Given the description of an element on the screen output the (x, y) to click on. 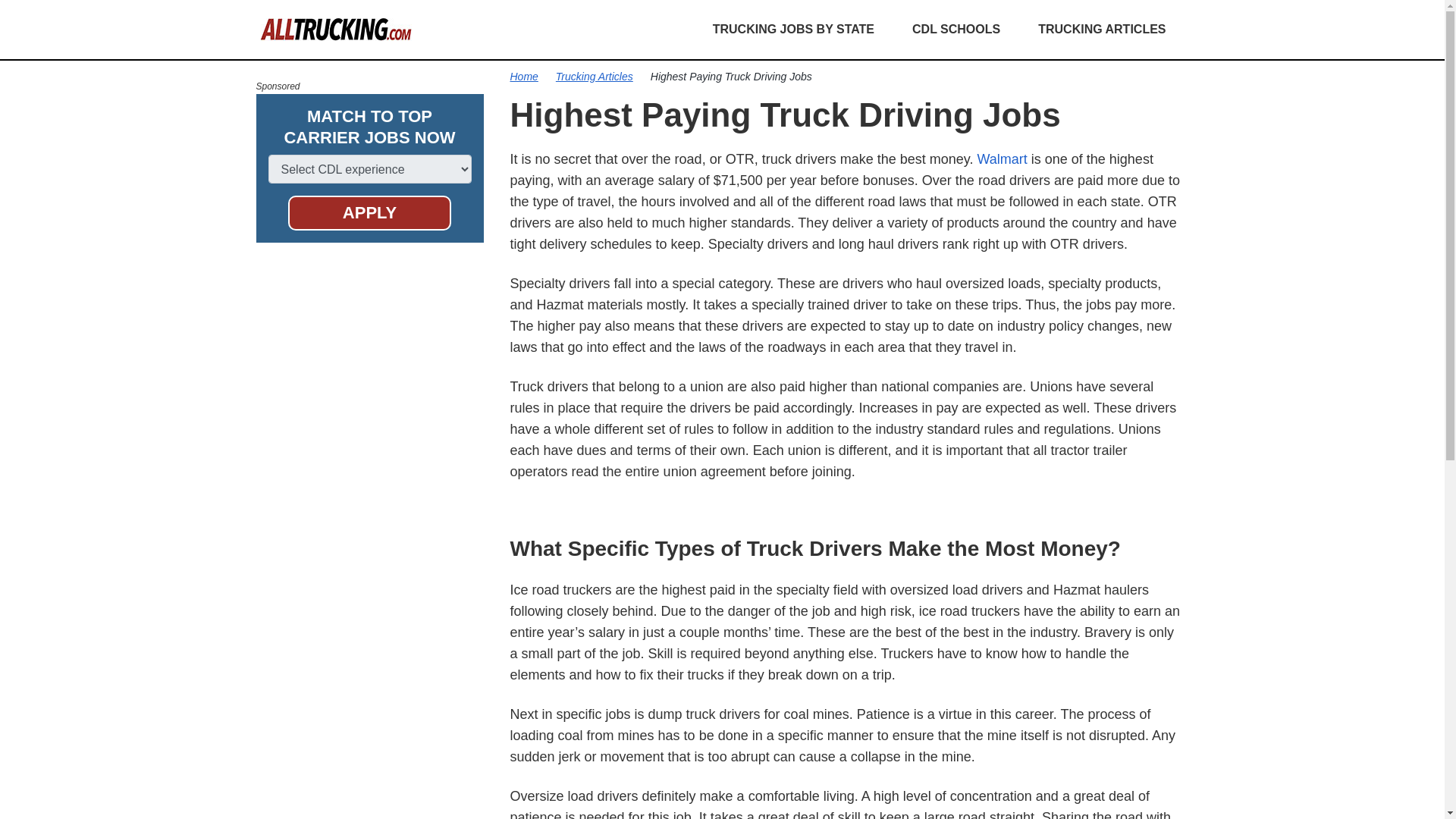
Walmart (1001, 159)
TRUCKING JOBS BY STATE (793, 28)
APPLY (369, 212)
Home (523, 76)
Highest Paying Truck Driving Jobs (730, 76)
Trucking Articles (594, 76)
CDL SCHOOLS (955, 28)
TRUCKING ARTICLES (1101, 28)
